Given the description of an element on the screen output the (x, y) to click on. 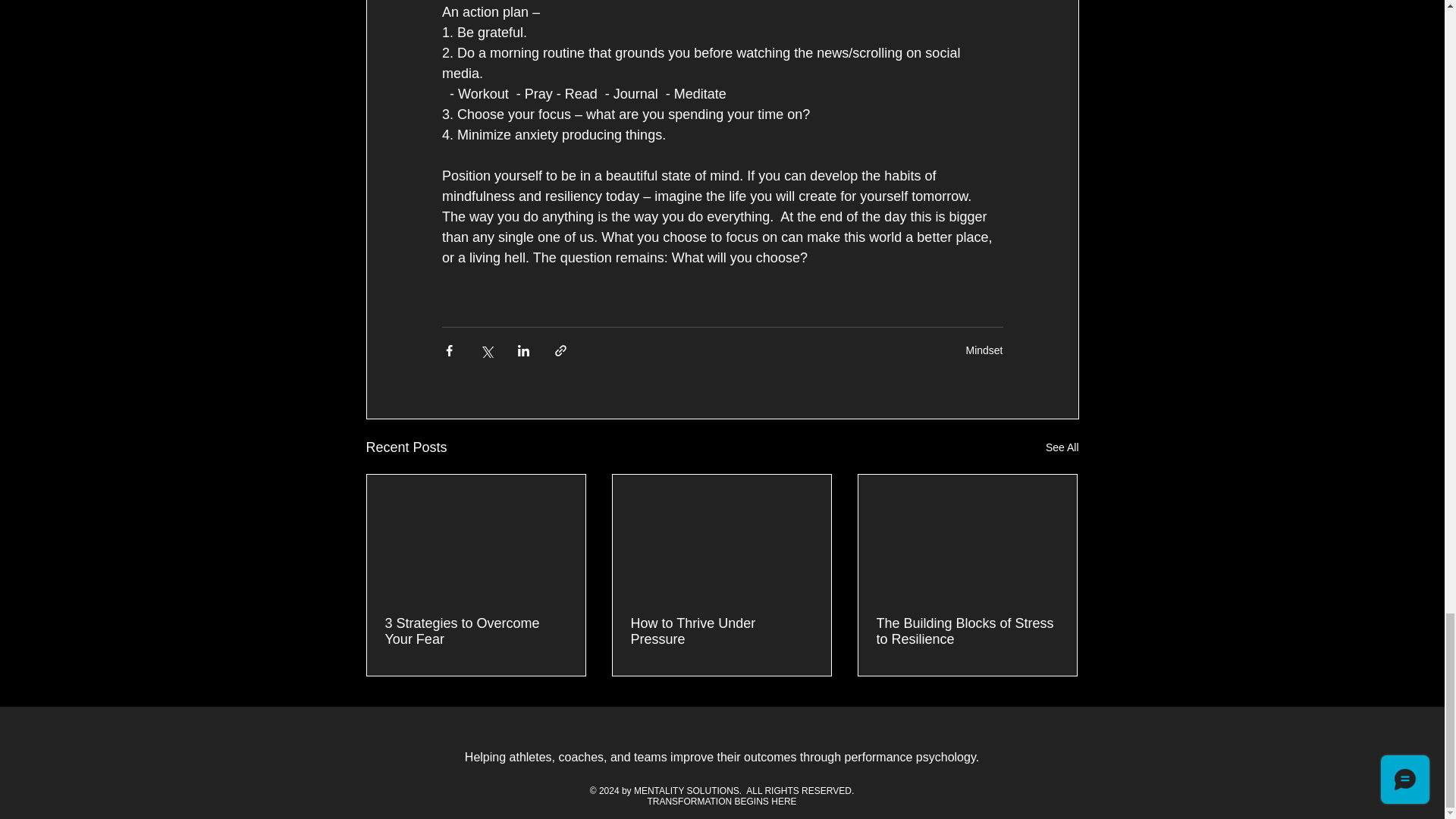
See All (1061, 447)
3 Strategies to Overcome Your Fear (476, 631)
The Building Blocks of Stress to Resilience (967, 631)
How to Thrive Under Pressure (721, 631)
Mindset (984, 349)
